Given the description of an element on the screen output the (x, y) to click on. 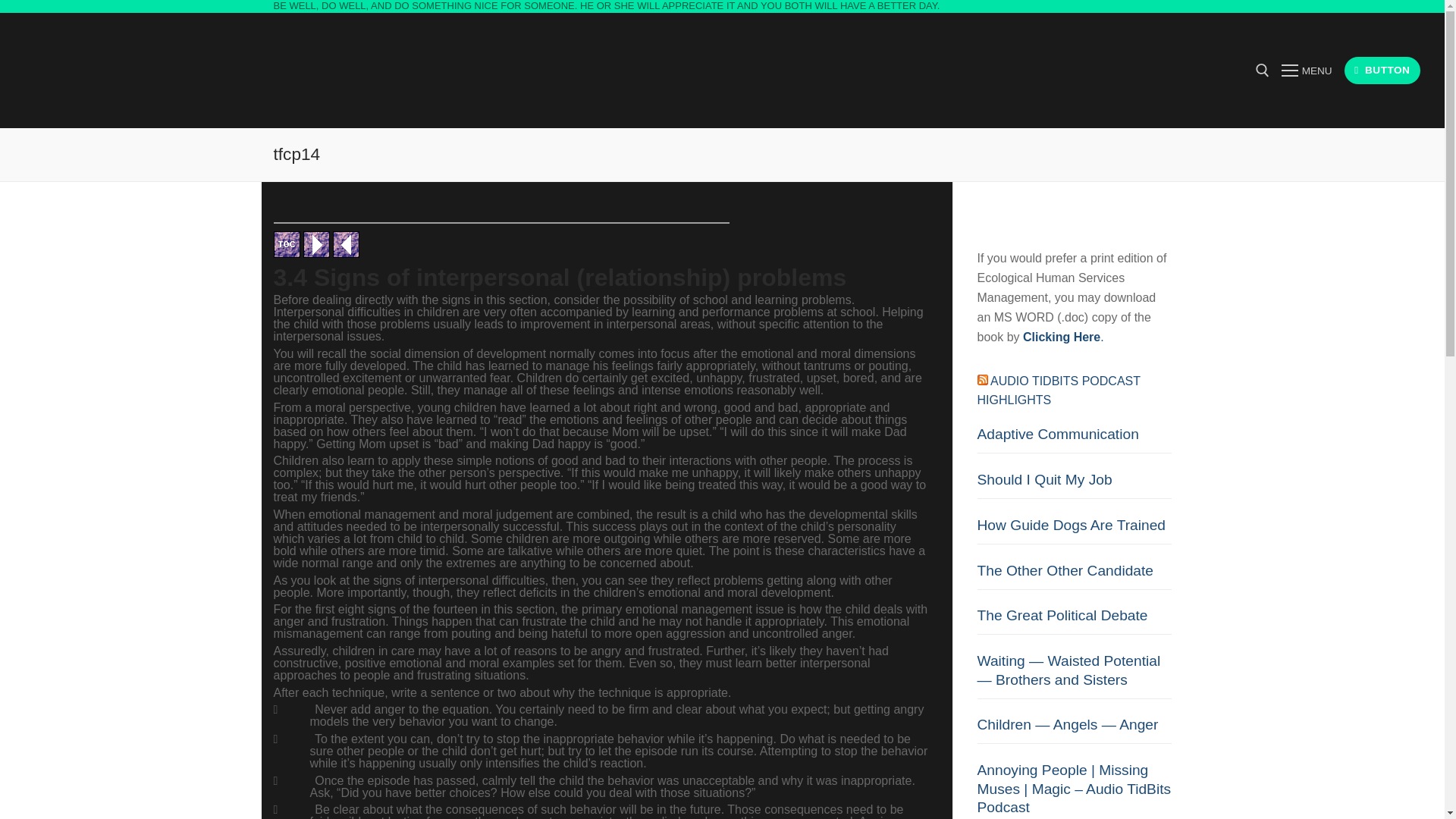
The Great Political Debate (1073, 620)
Should I Quit My Job (1073, 484)
How Guide Dogs Are Trained (1073, 530)
The Other Other Candidate (1073, 575)
Adaptive Communication (1073, 439)
BUTTON (1382, 70)
MENU (1306, 70)
AUDIO TIDBITS PODCAST HIGHLIGHTS (1058, 390)
Clicking Here. (1063, 336)
